Given the description of an element on the screen output the (x, y) to click on. 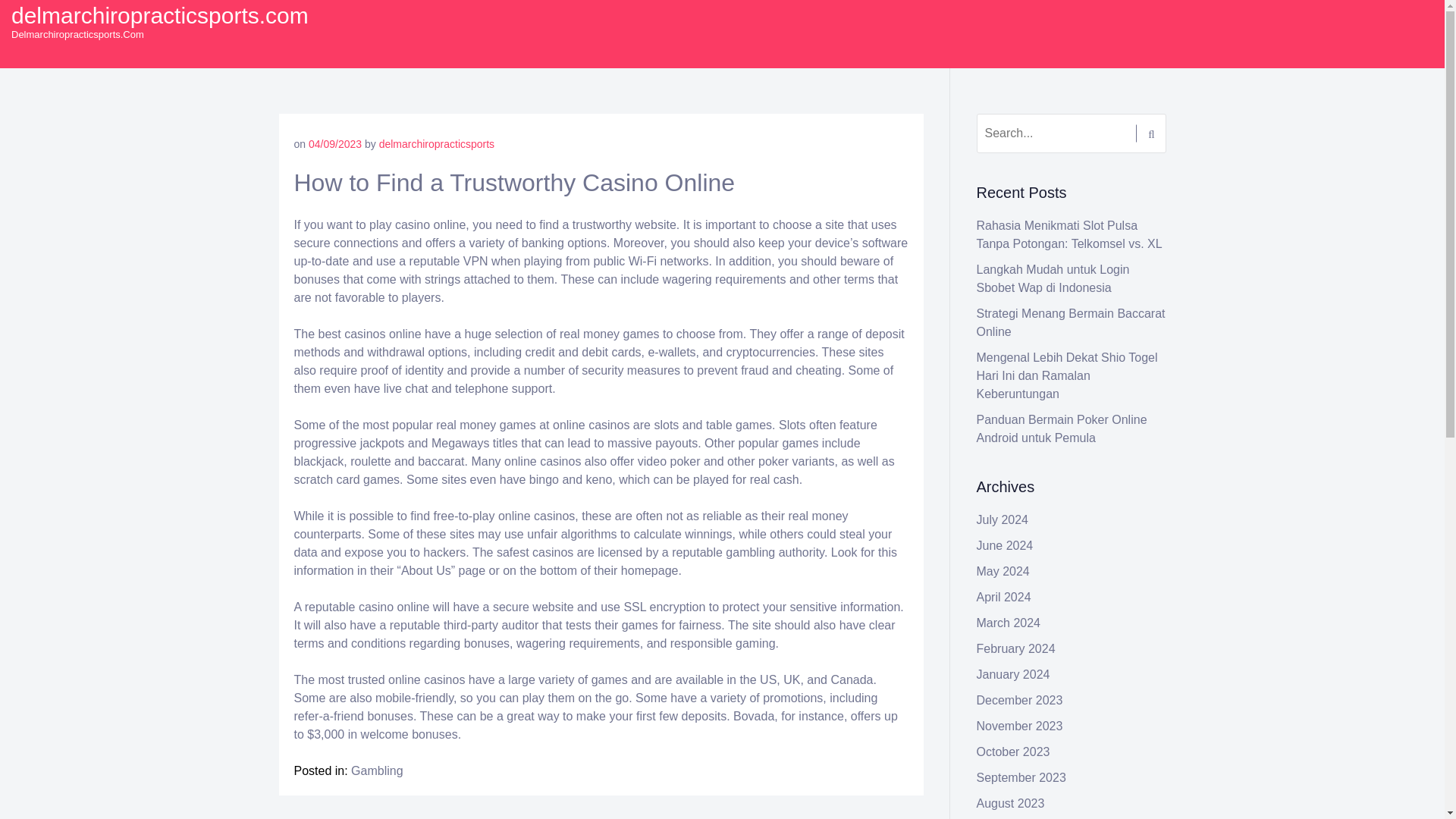
February 2024 (1015, 648)
June 2024 (1004, 545)
May 2024 (1002, 571)
Langkah Mudah untuk Login Sbobet Wap di Indonesia (1052, 278)
April 2024 (1003, 596)
delmarchiropracticsports (436, 143)
July 2024 (1002, 519)
November 2023 (1019, 725)
Strategi Menang Bermain Baccarat Online (1071, 322)
delmarchiropracticsports.com (159, 15)
Panduan Bermain Poker Online Android untuk Pemula (1061, 428)
Gambling (376, 770)
September 2023 (1020, 777)
August 2023 (1010, 802)
